Given the description of an element on the screen output the (x, y) to click on. 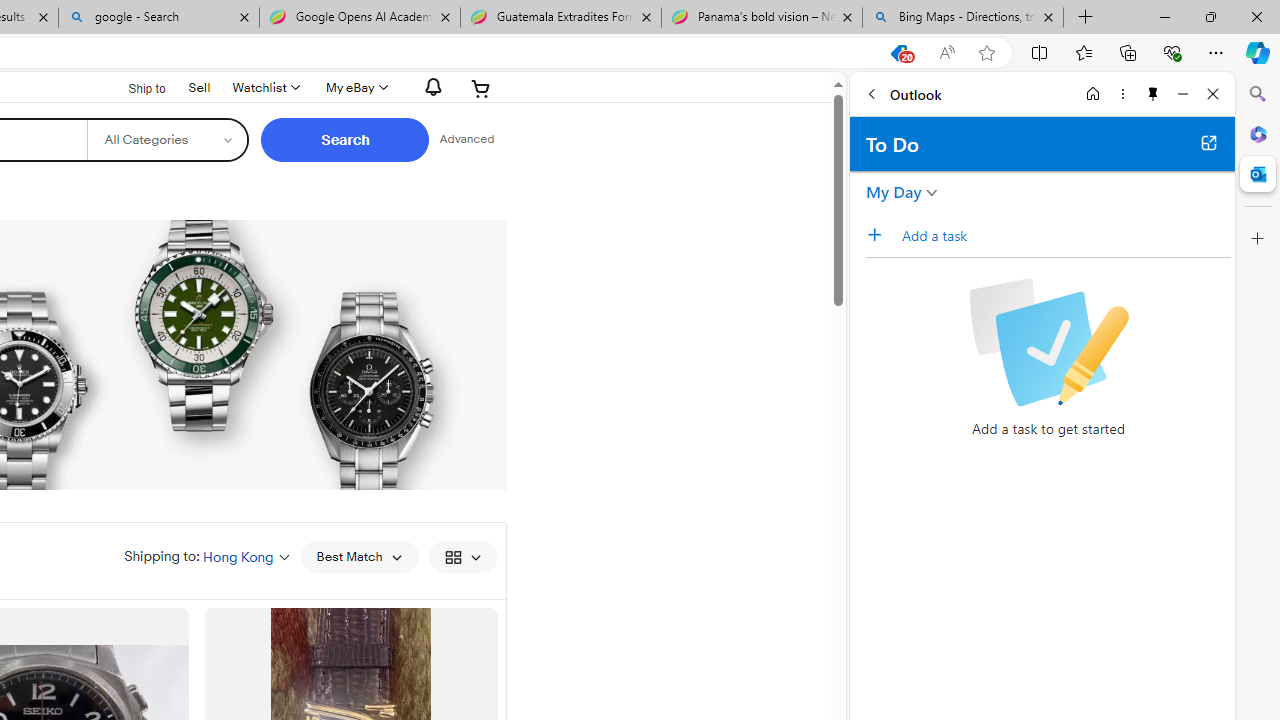
Select a category for search (167, 139)
